Given the description of an element on the screen output the (x, y) to click on. 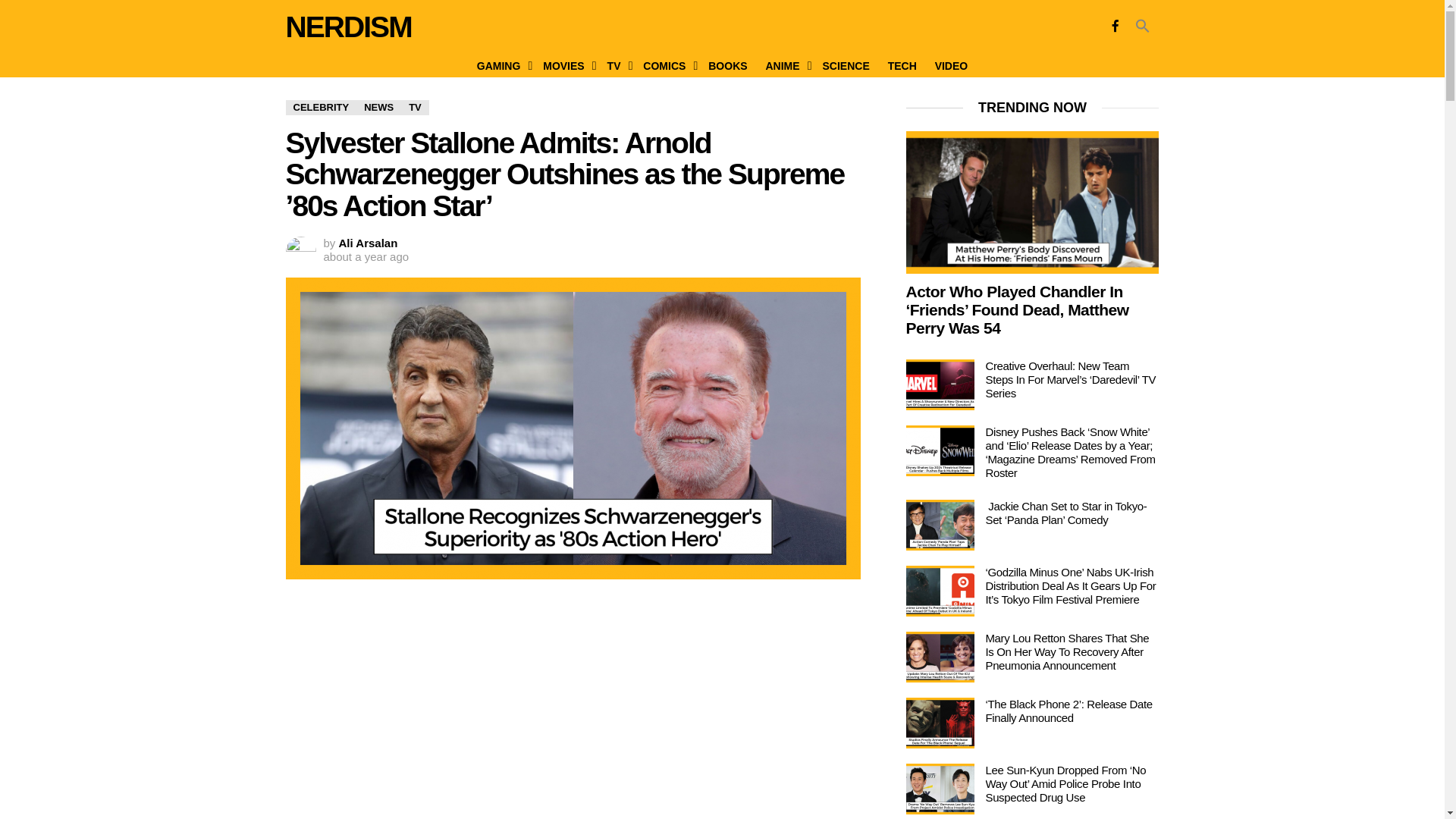
June 17, 2023, 3:39 am (366, 256)
Advertisement (572, 701)
VIDEO (951, 65)
CELEBRITY (320, 107)
NERDISM (347, 26)
Posts by Ali Arsalan (368, 242)
GAMING (500, 65)
MOVIES (565, 65)
COMICS (665, 65)
TECH (902, 65)
TV (616, 65)
BOOKS (727, 65)
TV (415, 107)
ANIME (783, 65)
NEWS (378, 107)
